Given the description of an element on the screen output the (x, y) to click on. 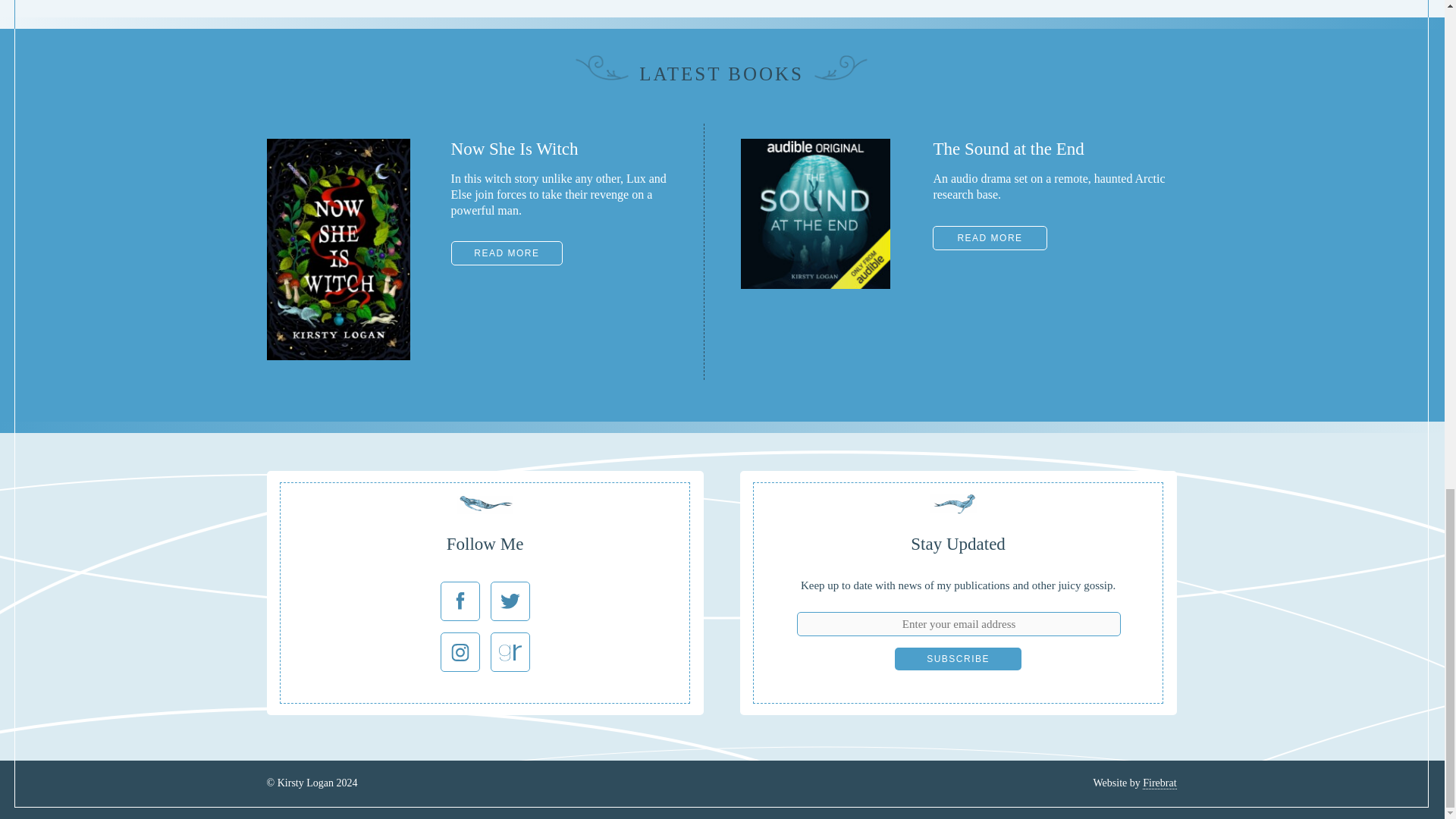
Follow me on Goodreads (509, 651)
Sign Up Now! (958, 658)
Follow me on Facebook (460, 600)
Follow me on Twitter (509, 600)
The Sound at the End (1008, 148)
The Sound at the End (989, 238)
Now She Is Witch (514, 148)
The Sound at the End (815, 284)
LATEST BOOKS (721, 73)
Follow me on Instagram (460, 651)
Now She Is Witch (507, 252)
Latest News (721, 73)
Now She Is Witch (338, 355)
Now She Is Witch (514, 148)
